Given the description of an element on the screen output the (x, y) to click on. 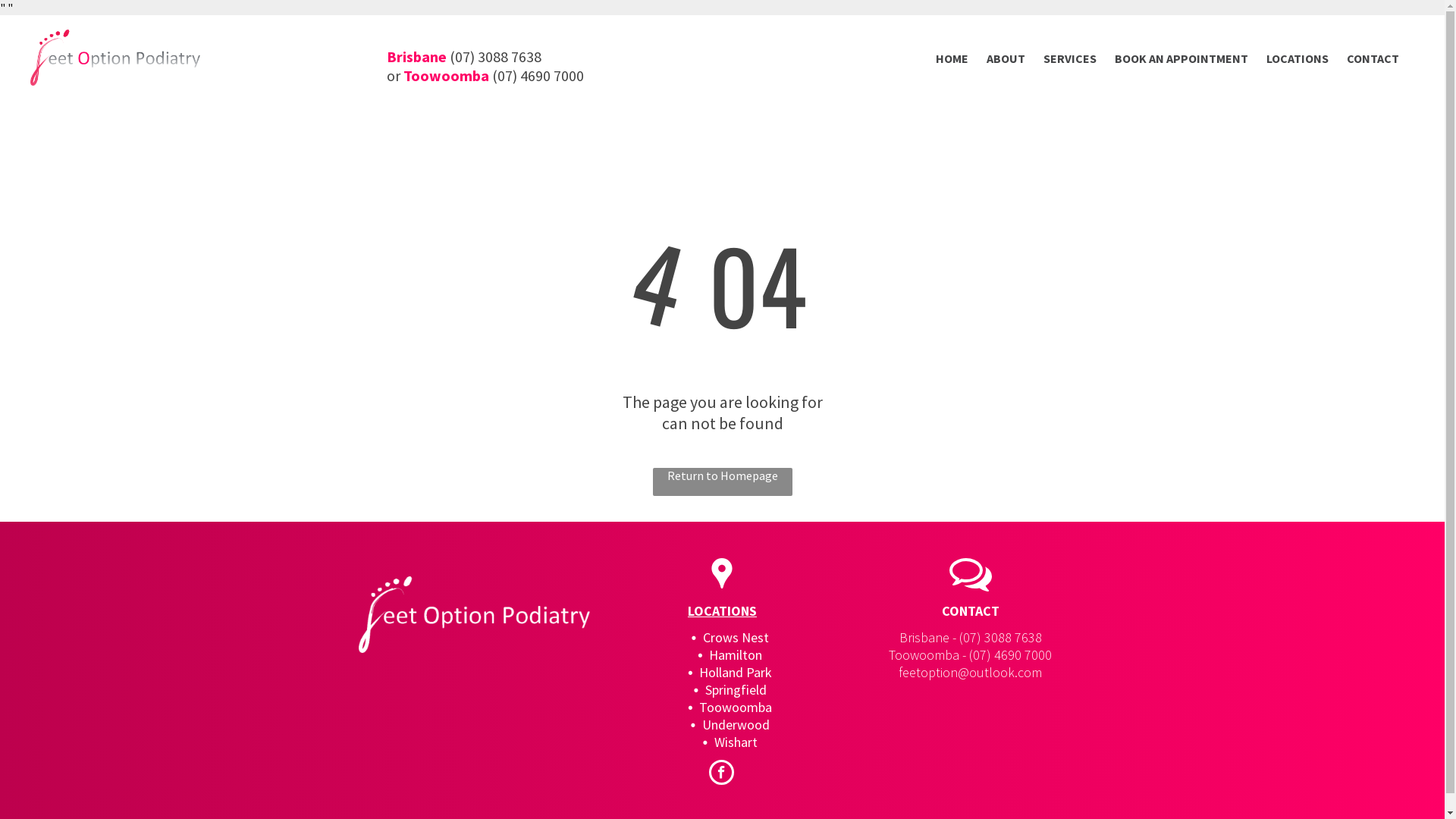
Wishart Element type: text (735, 741)
ABOUT Element type: text (1005, 57)
Springfield Element type: text (735, 689)
HOME Element type: text (951, 57)
Toowoomba Element type: text (735, 706)
(07) 4690 7000 Element type: text (537, 74)
SERVICES Element type: text (1069, 57)
Hamilton Element type: text (735, 654)
LOCATIONS Element type: text (1297, 57)
(07) 4690 7000 Element type: text (1010, 654)
BOOK AN APPOINTMENT Element type: text (1181, 57)
(07) 3088 7638 Element type: text (1000, 637)
Return to Homepage Element type: text (721, 481)
Underwood Element type: text (735, 724)
(07) 3088 7638 Element type: text (495, 56)
CONTACT Element type: text (1372, 57)
Brisbane Element type: text (416, 56)
LOCATIONS Element type: text (721, 610)
Toowoomba Element type: text (446, 74)
Holland Park Element type: text (735, 671)
feetoption@outlook.com Element type: text (969, 671)
